Given the description of an element on the screen output the (x, y) to click on. 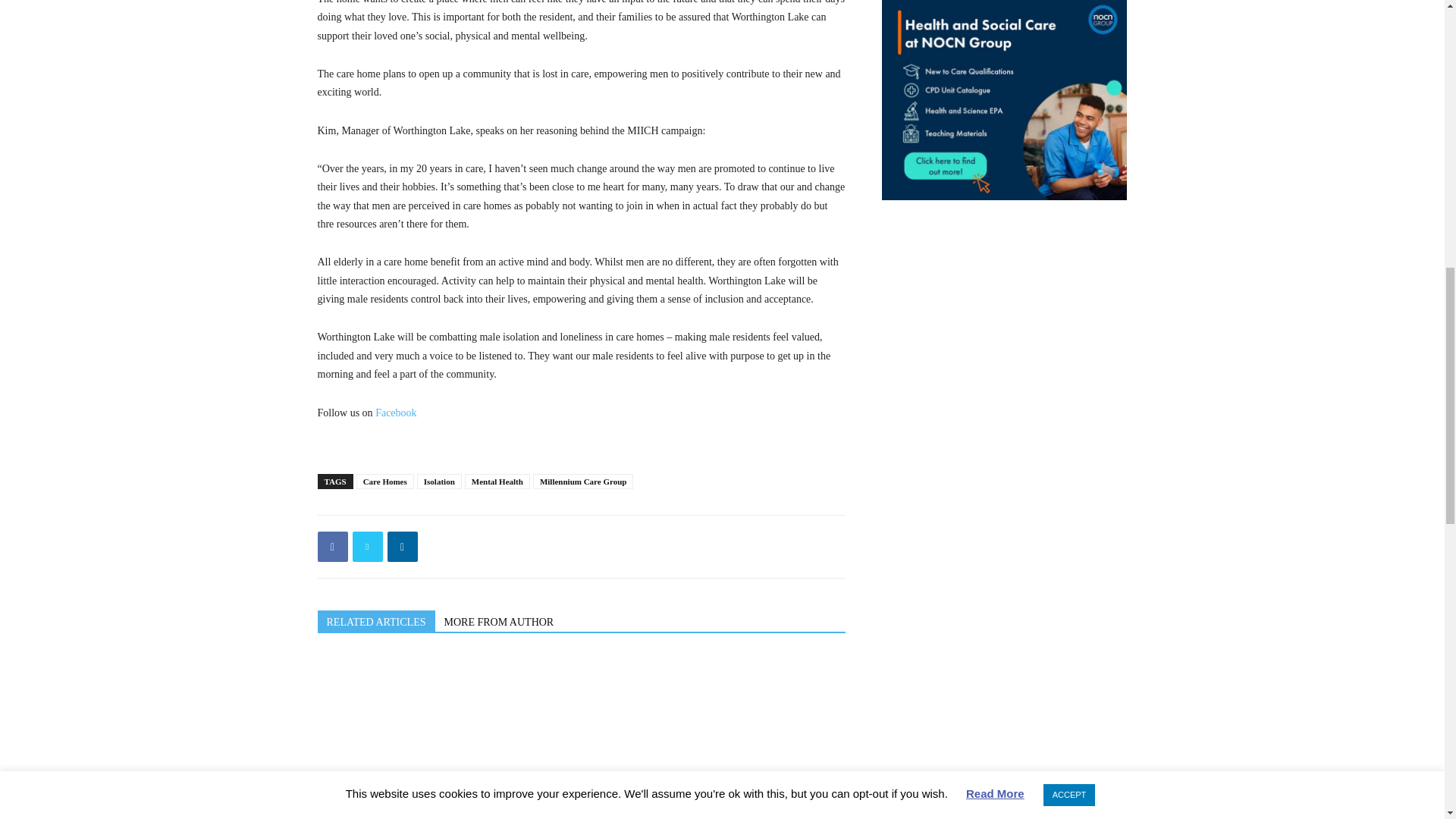
Mental Health (496, 481)
Millennium Care Group (582, 481)
Linkedin (401, 546)
Twitter (366, 546)
Facebook (332, 546)
Isolation (438, 481)
Facebook (395, 412)
Care Homes (384, 481)
